Given the description of an element on the screen output the (x, y) to click on. 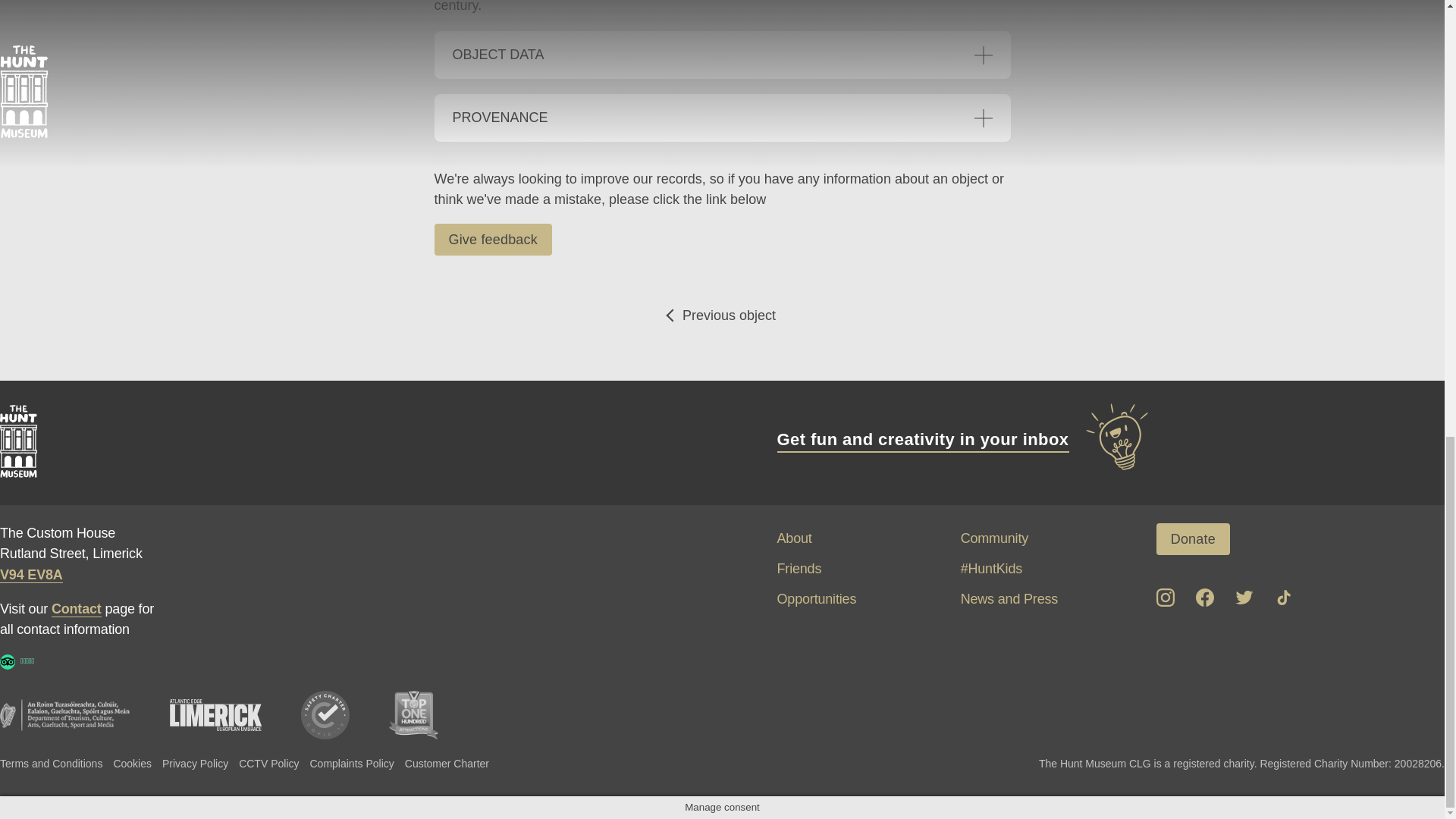
Get fun and creativity in your inbox (963, 439)
Privacy Policy (194, 763)
Community (993, 538)
Customer Charter (446, 763)
News and Press (1009, 598)
Read reviews on Tripadvisor  (7, 661)
Donate (1193, 539)
Friends (798, 568)
Previous object (722, 315)
CCTV Policy (268, 763)
About (793, 538)
Terms and Conditions (50, 763)
V94 EV8A (31, 575)
Contact (75, 609)
Give feedback (492, 239)
